Given the description of an element on the screen output the (x, y) to click on. 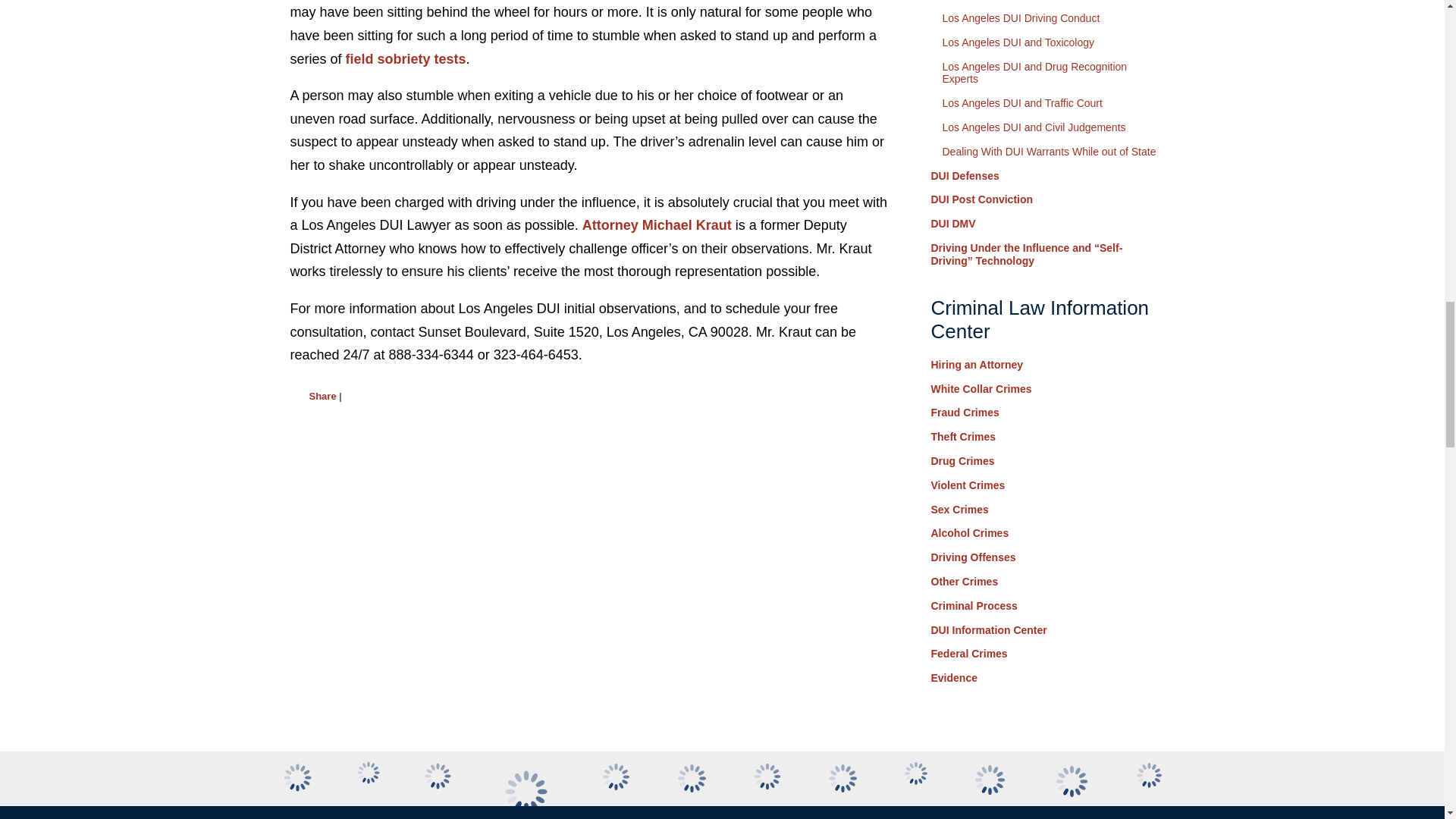
Share (322, 396)
Attorney Michael Kraut (657, 224)
field sobriety tests (405, 58)
